Given the description of an element on the screen output the (x, y) to click on. 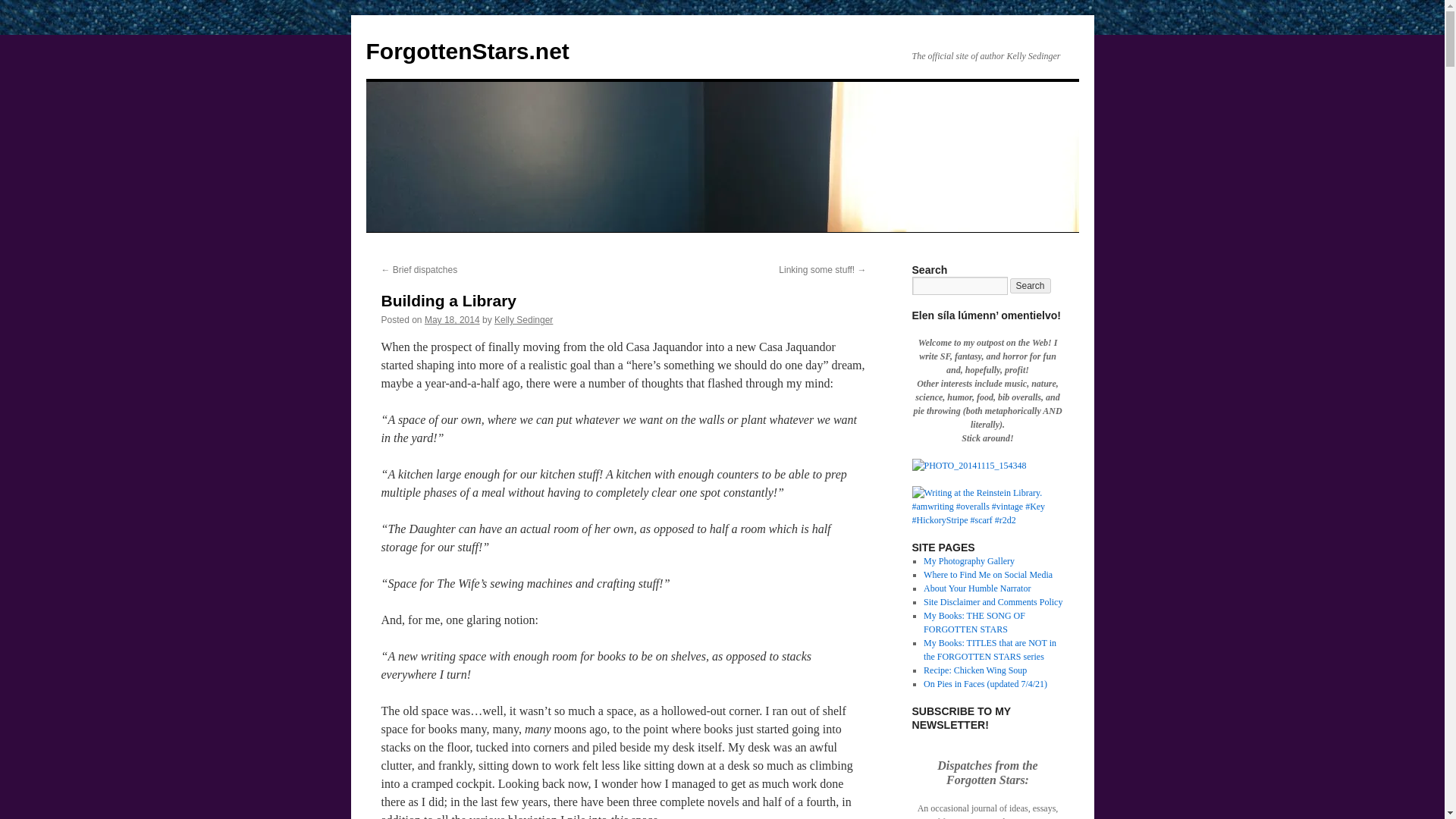
View all posts by Kelly Sedinger (524, 319)
11:39 pm (452, 319)
Where to Find Me on Social Media (987, 574)
My Photography Gallery (968, 561)
May 18, 2014 (452, 319)
ForgottenStars.net (467, 50)
About Your Humble Narrator (976, 588)
Search (1030, 285)
Kelly Sedinger (524, 319)
Search (1030, 285)
